Given the description of an element on the screen output the (x, y) to click on. 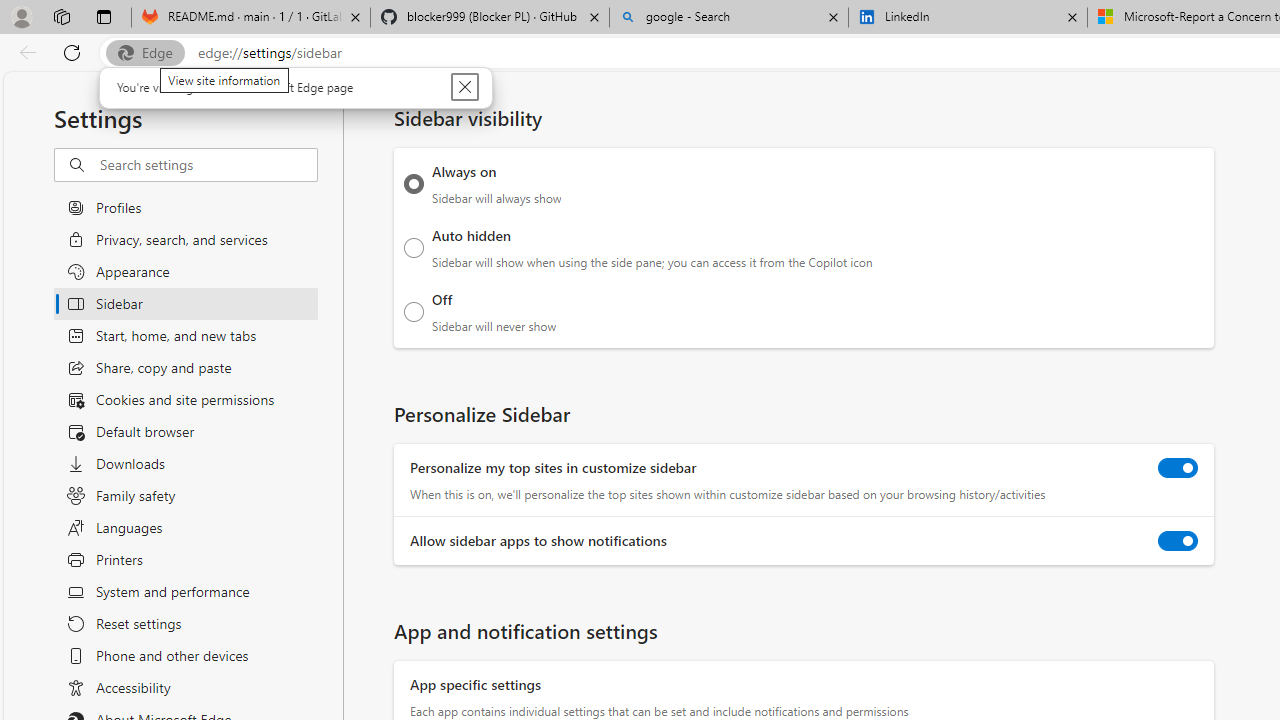
google - Search (729, 17)
Allow sidebar apps to show notifications (1178, 540)
LinkedIn (967, 17)
Search settings (207, 165)
Personalize my top sites in customize sidebar (1178, 467)
Off Sidebar will never show (413, 311)
